Given the description of an element on the screen output the (x, y) to click on. 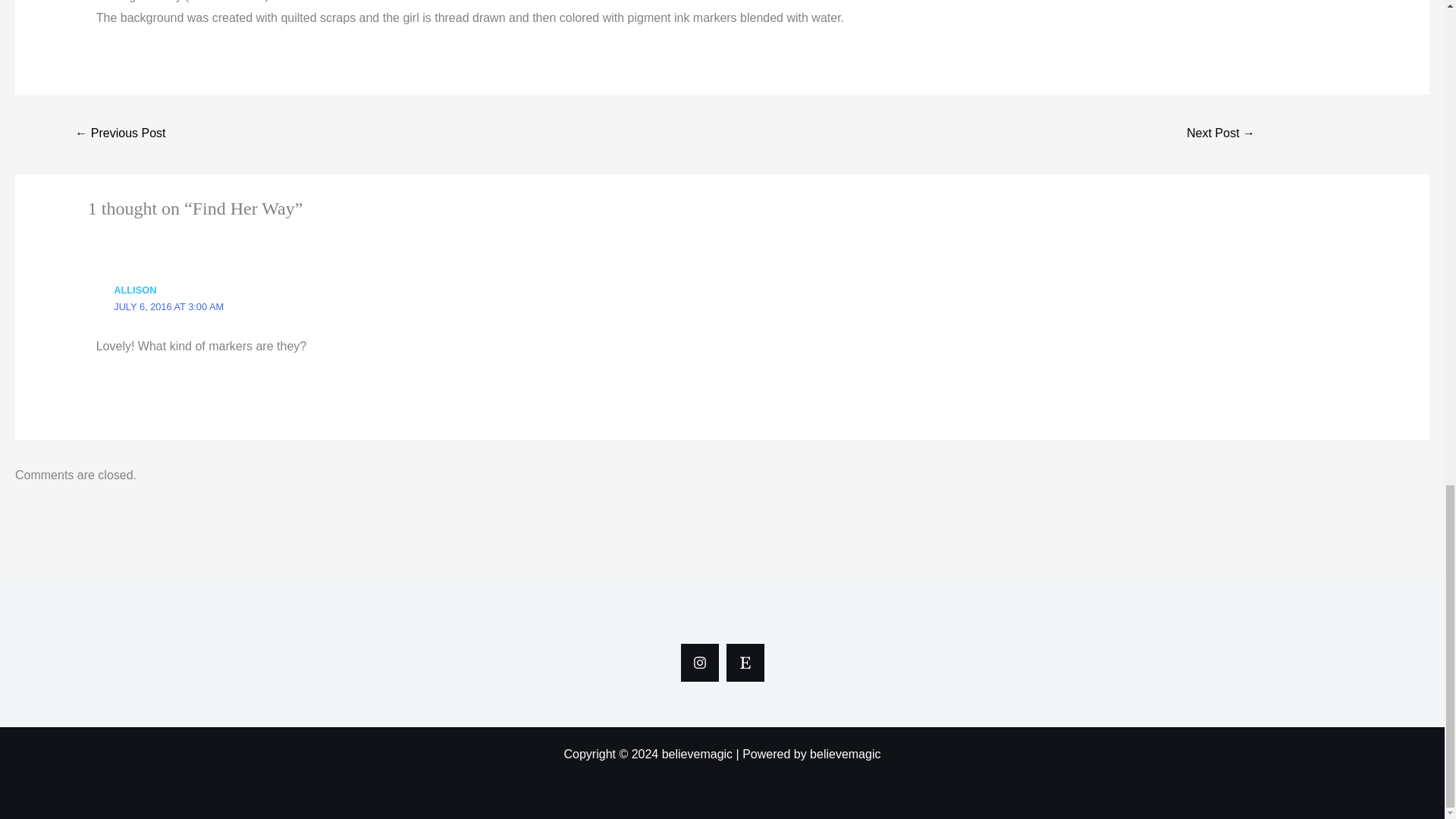
Love Fills Her Heart (119, 134)
JULY 6, 2016 AT 3:00 AM (168, 306)
Bike Happy (1220, 134)
